Given the description of an element on the screen output the (x, y) to click on. 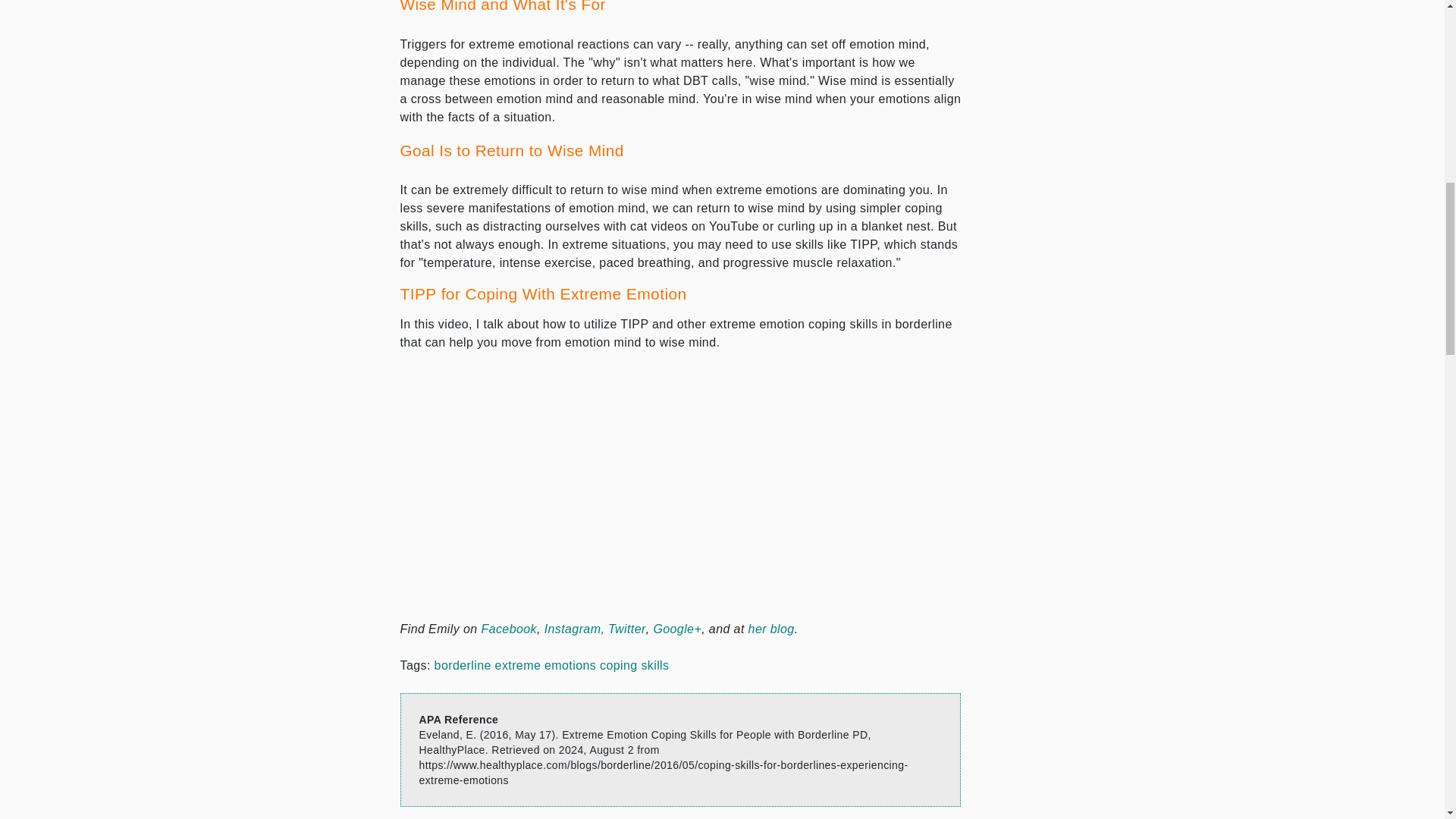
Emily Eveland's Blog (771, 628)
Emily Eveland on Twitter (627, 628)
